Given the description of an element on the screen output the (x, y) to click on. 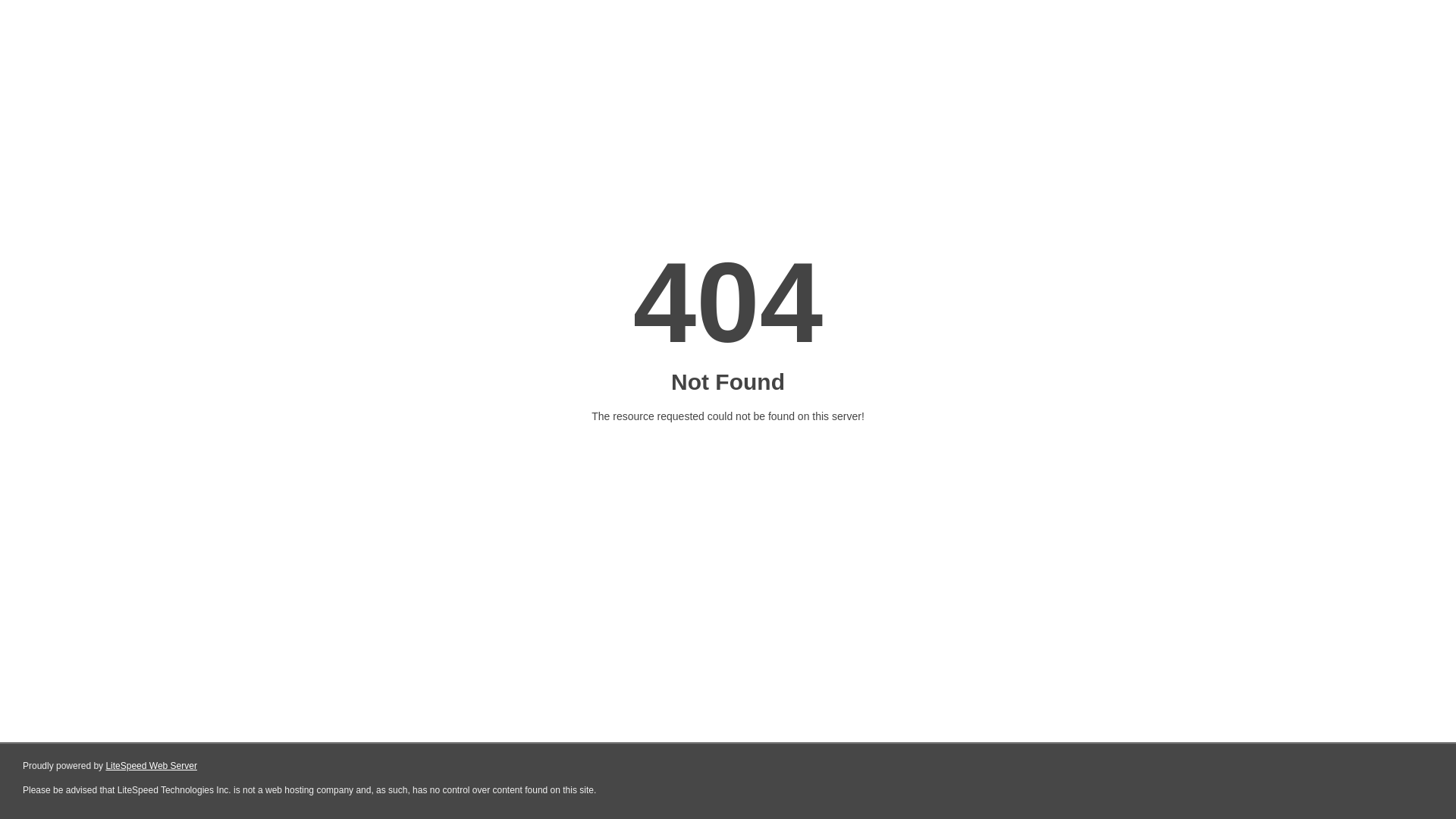
LiteSpeed Web Server Element type: text (151, 765)
